Given the description of an element on the screen output the (x, y) to click on. 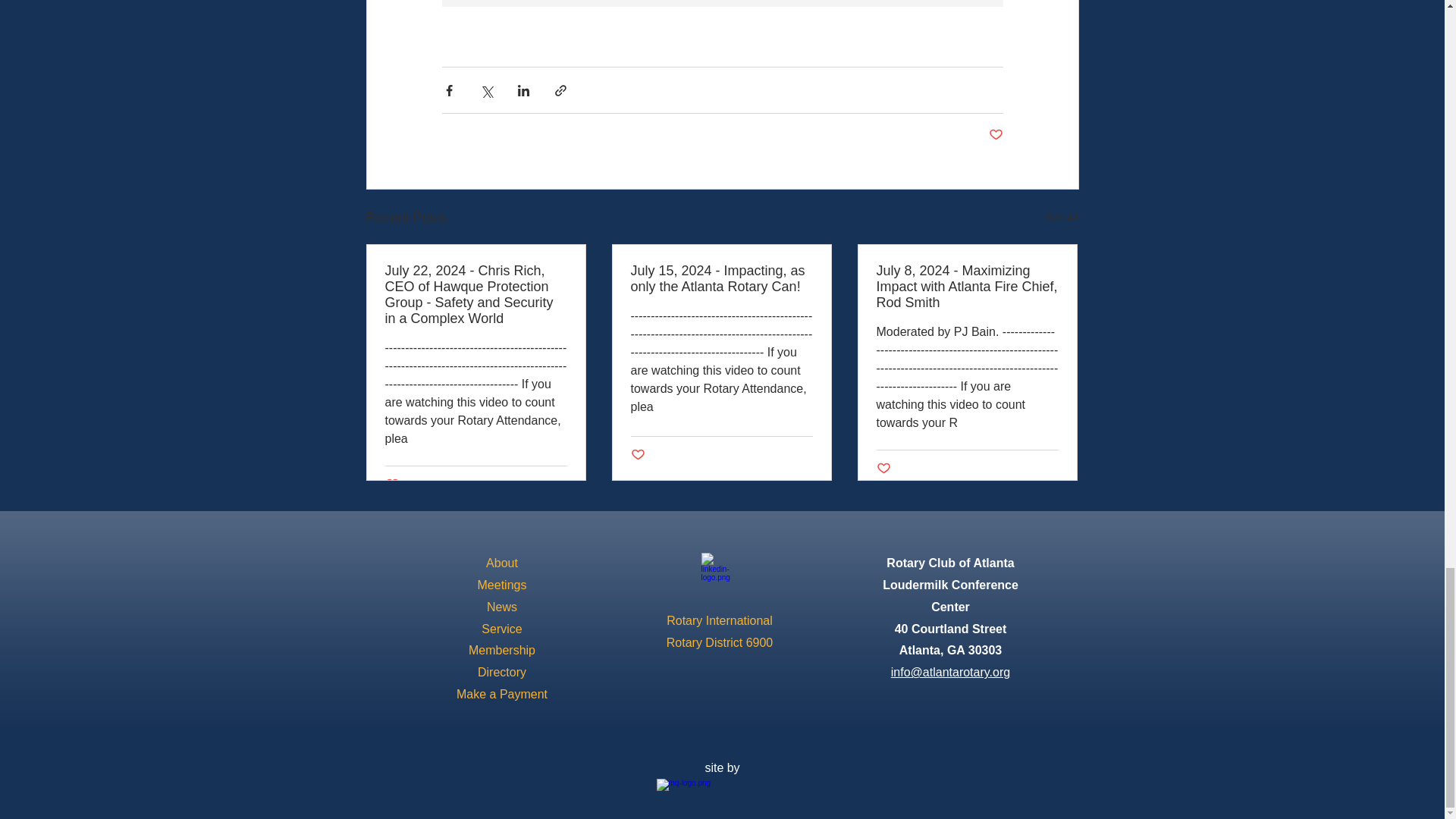
Make a Payment (502, 694)
Post not marked as liked (391, 484)
Post not marked as liked (995, 135)
Meetings (502, 584)
Membership (501, 649)
July 15, 2024 - Impacting, as only the Atlanta Rotary Can! (721, 278)
Service (501, 628)
Directory (501, 671)
Post not marked as liked (883, 468)
Rotary District 6900 (719, 642)
See All (1061, 218)
Post not marked as liked (637, 455)
Rotary International (719, 620)
